Given the description of an element on the screen output the (x, y) to click on. 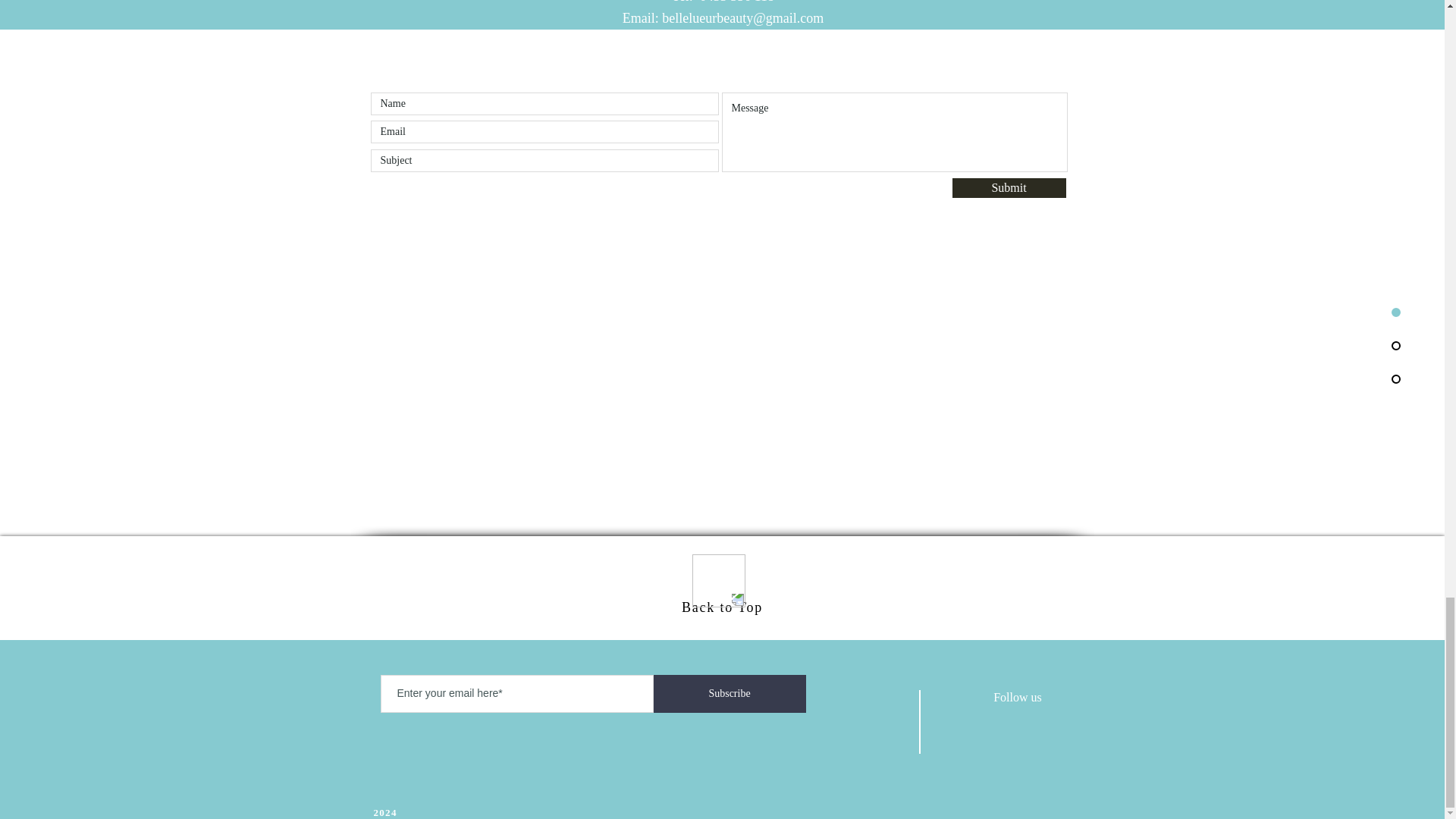
Subscribe (729, 693)
Submit (1008, 187)
Back to Top (721, 607)
